Given the description of an element on the screen output the (x, y) to click on. 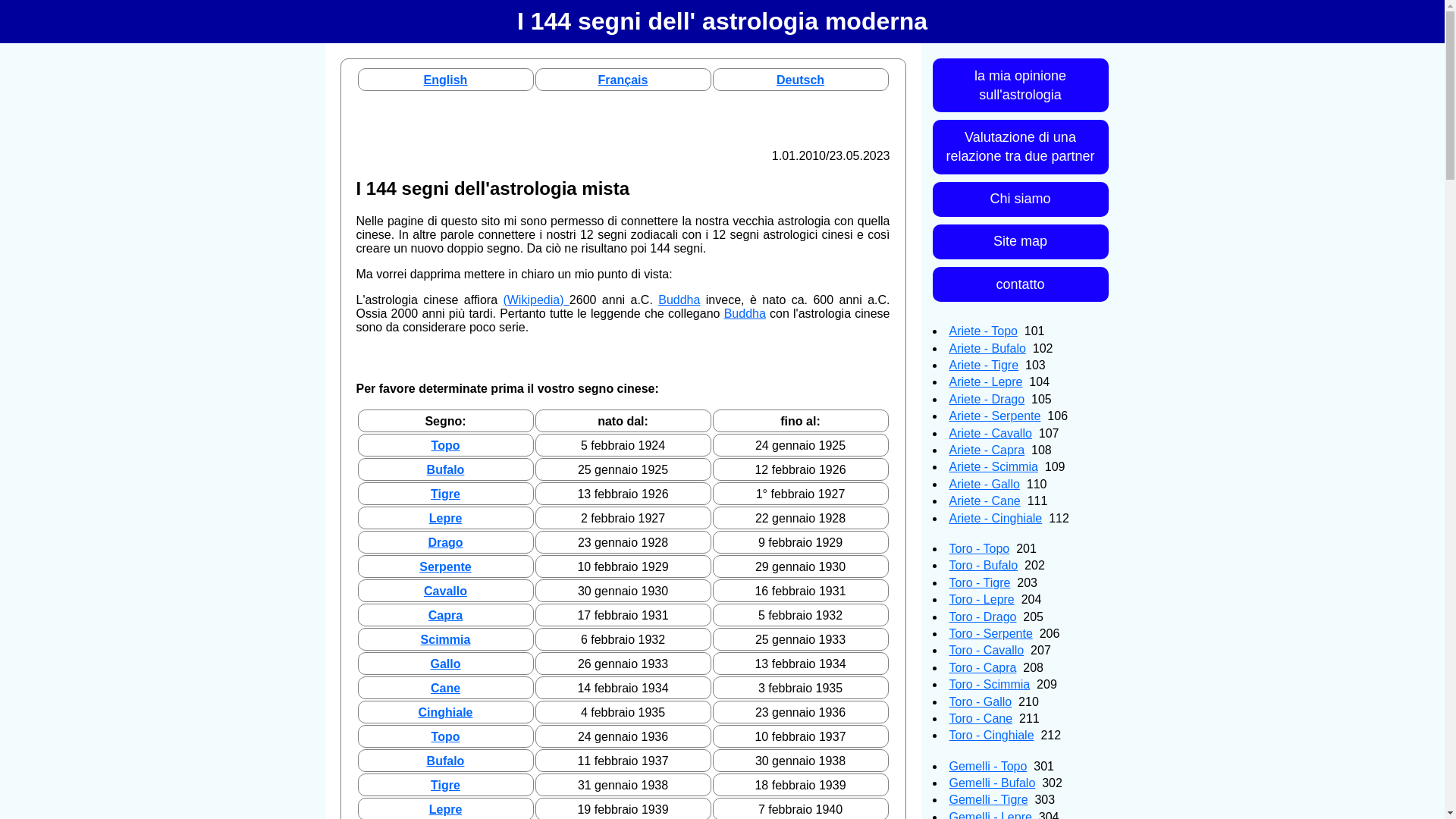
Gemelli - Topo Element type: text (988, 765)
Ariete - Gallo Element type: text (984, 483)
Ariete - Lepre Element type: text (985, 381)
Gemelli - Bufalo Element type: text (992, 782)
Buddha Element type: text (678, 299)
Toro - Gallo Element type: text (980, 701)
Drago Element type: text (444, 542)
Valutazione di una relazione tra due partner Element type: text (1020, 146)
Toro - Capra Element type: text (982, 667)
Ariete - Drago Element type: text (987, 398)
Deutsch Element type: text (800, 79)
la mia opinione sull'astrologia Element type: text (1020, 85)
Lepre Element type: text (445, 809)
Serpente Element type: text (444, 566)
Toro - Topo Element type: text (979, 548)
Ariete - Cane Element type: text (984, 500)
Ariete - Capra Element type: text (987, 449)
Topo Element type: text (445, 736)
Cavallo Element type: text (445, 590)
Gallo Element type: text (444, 663)
Ariete - Scimmia Element type: text (993, 466)
Toro - Serpente Element type: text (990, 633)
Gemelli - Tigre Element type: text (988, 799)
Capra Element type: text (445, 614)
Toro - Tigre Element type: text (979, 582)
Toro - Cavallo Element type: text (986, 649)
Ariete - Tigre Element type: text (984, 364)
Toro - Cinghiale Element type: text (991, 734)
English Element type: text (445, 79)
Cane Element type: text (445, 687)
Bufalo Element type: text (445, 760)
Scimmia Element type: text (445, 639)
Ariete - Serpente Element type: text (995, 415)
Tigre Element type: text (445, 784)
Bufalo Element type: text (445, 469)
Lepre Element type: text (445, 517)
(Wikipedia) Element type: text (535, 299)
Buddha Element type: text (744, 313)
Toro - Lepre Element type: text (981, 599)
contatto Element type: text (1020, 283)
Chi siamo Element type: text (1020, 199)
Ariete - Topo Element type: text (983, 330)
Toro - Drago Element type: text (982, 616)
Toro - Cane Element type: text (981, 718)
Toro - Scimmia Element type: text (989, 683)
Toro - Bufalo Element type: text (983, 564)
Ariete - Cinghiale Element type: text (995, 517)
Ariete - Cavallo Element type: text (990, 432)
Topo Element type: text (445, 445)
Tigre Element type: text (445, 493)
Site map Element type: text (1020, 241)
Cinghiale Element type: text (444, 712)
Ariete - Bufalo Element type: text (987, 348)
